Given the description of an element on the screen output the (x, y) to click on. 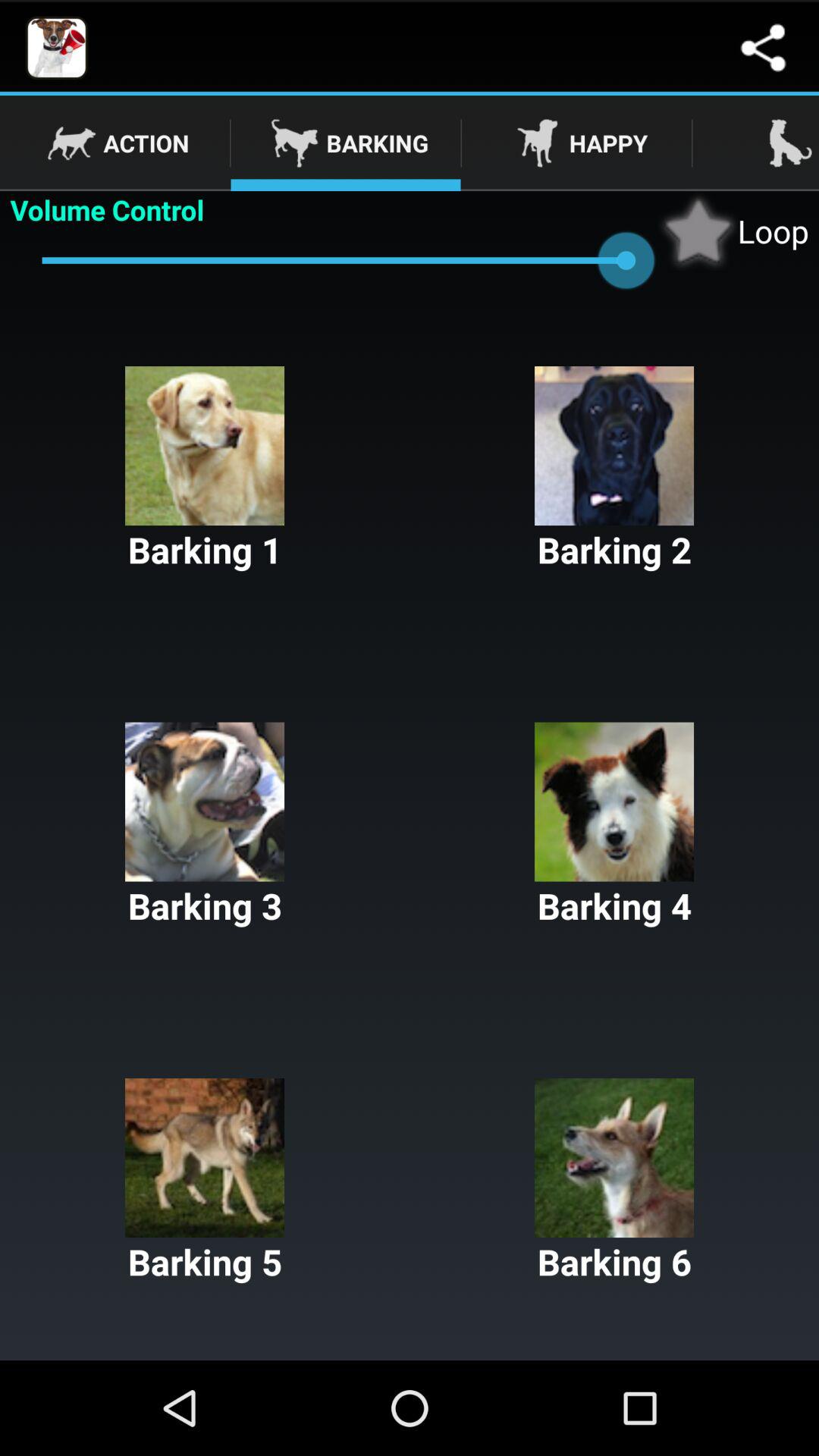
click the item next to the barking 1 item (614, 469)
